Given the description of an element on the screen output the (x, y) to click on. 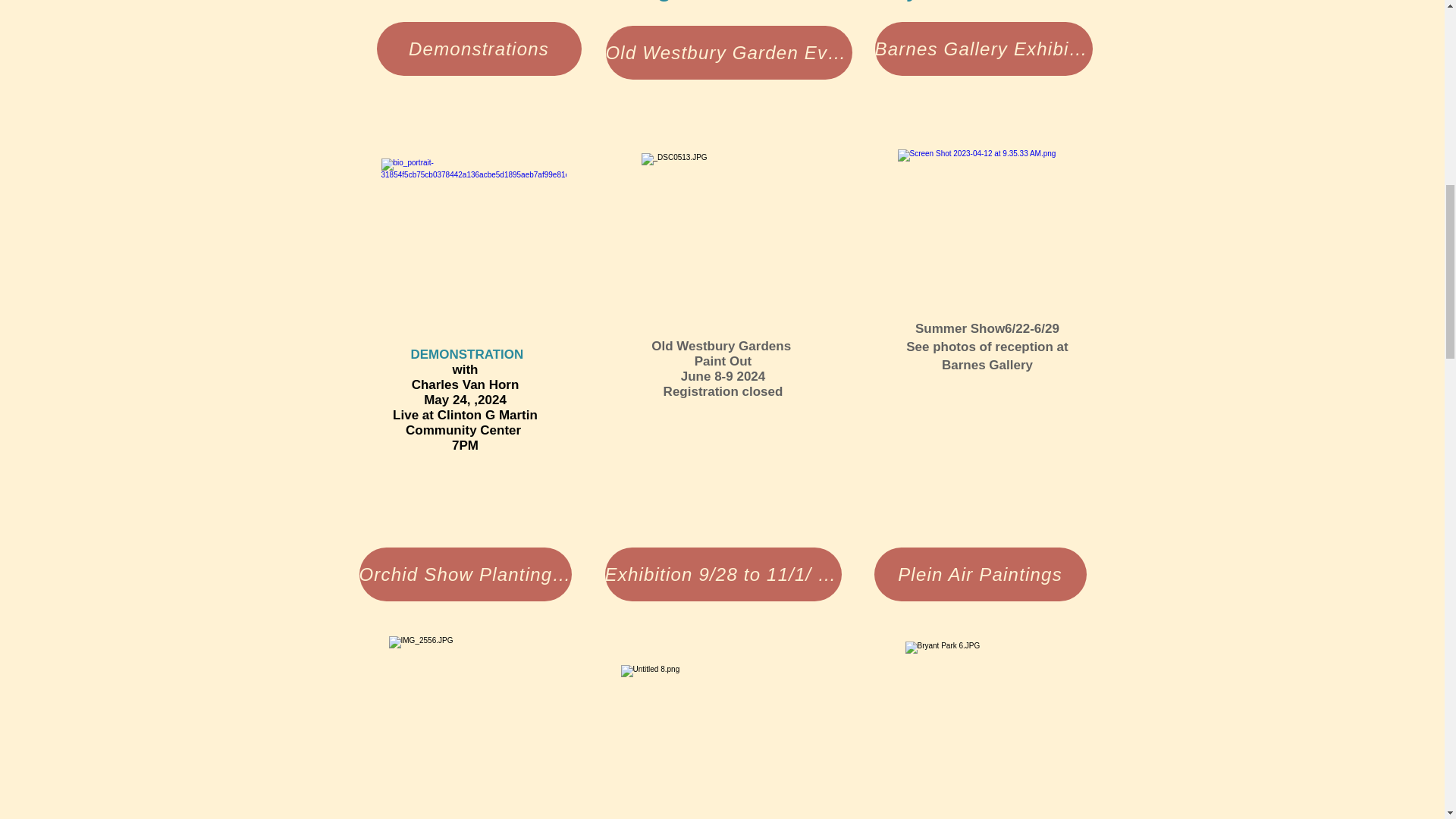
Demonstrations (477, 49)
Plein Air Paintings (979, 574)
Old Westbury Garden Event (728, 52)
Orchid Show Planting Field (465, 574)
 DEMONSTRATION (465, 354)
Barnes Gallery Exhibition (984, 49)
